Given the description of an element on the screen output the (x, y) to click on. 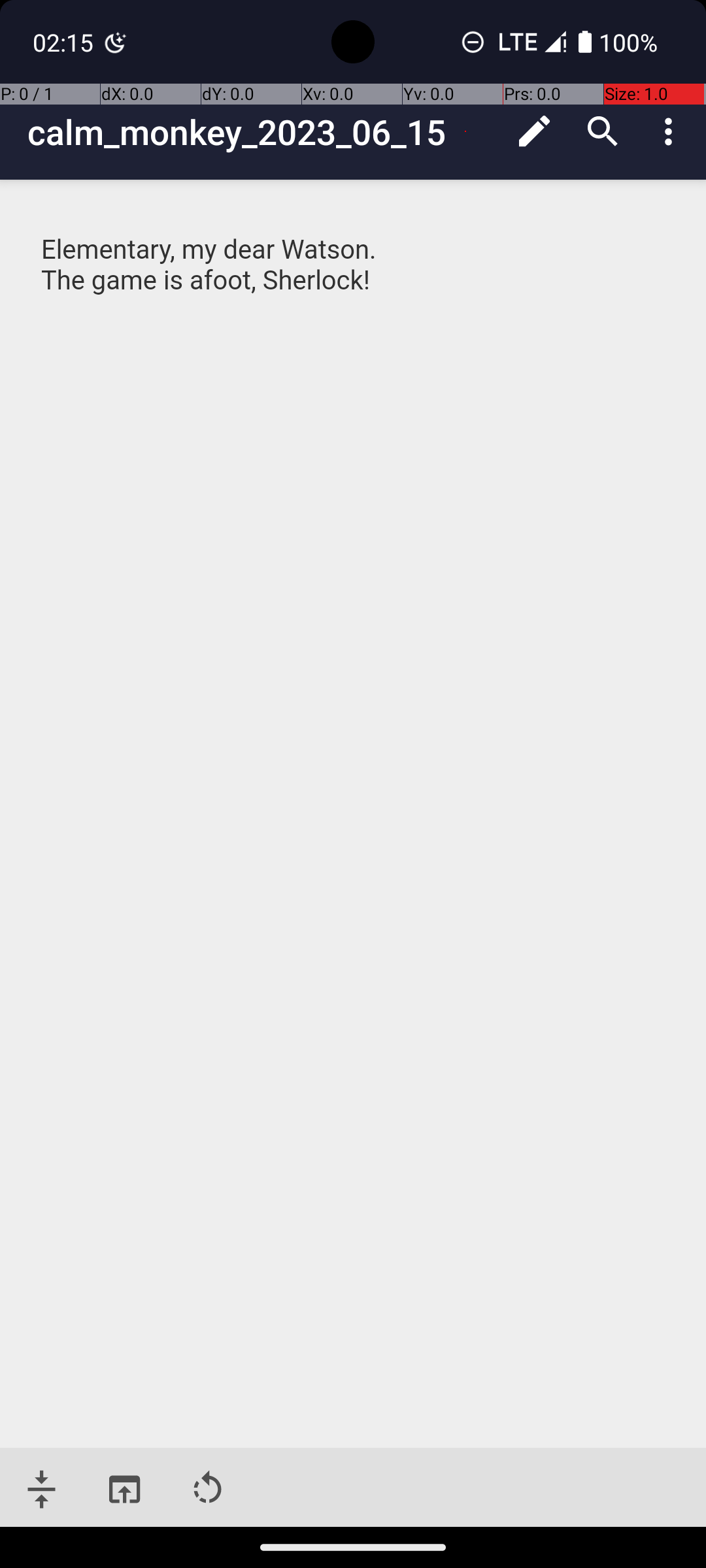
calm_monkey_2023_06_15 Element type: android.widget.TextView (263, 131)
Open with Element type: android.widget.ImageView (124, 1488)
Elementary, my dear Watson.
The game is afoot, Sherlock!
     Element type: android.widget.TextView (354, 280)
02:15 Element type: android.widget.TextView (64, 41)
Digital Wellbeing notification: Bedtime mode is on Element type: android.widget.ImageView (115, 41)
